Given the description of an element on the screen output the (x, y) to click on. 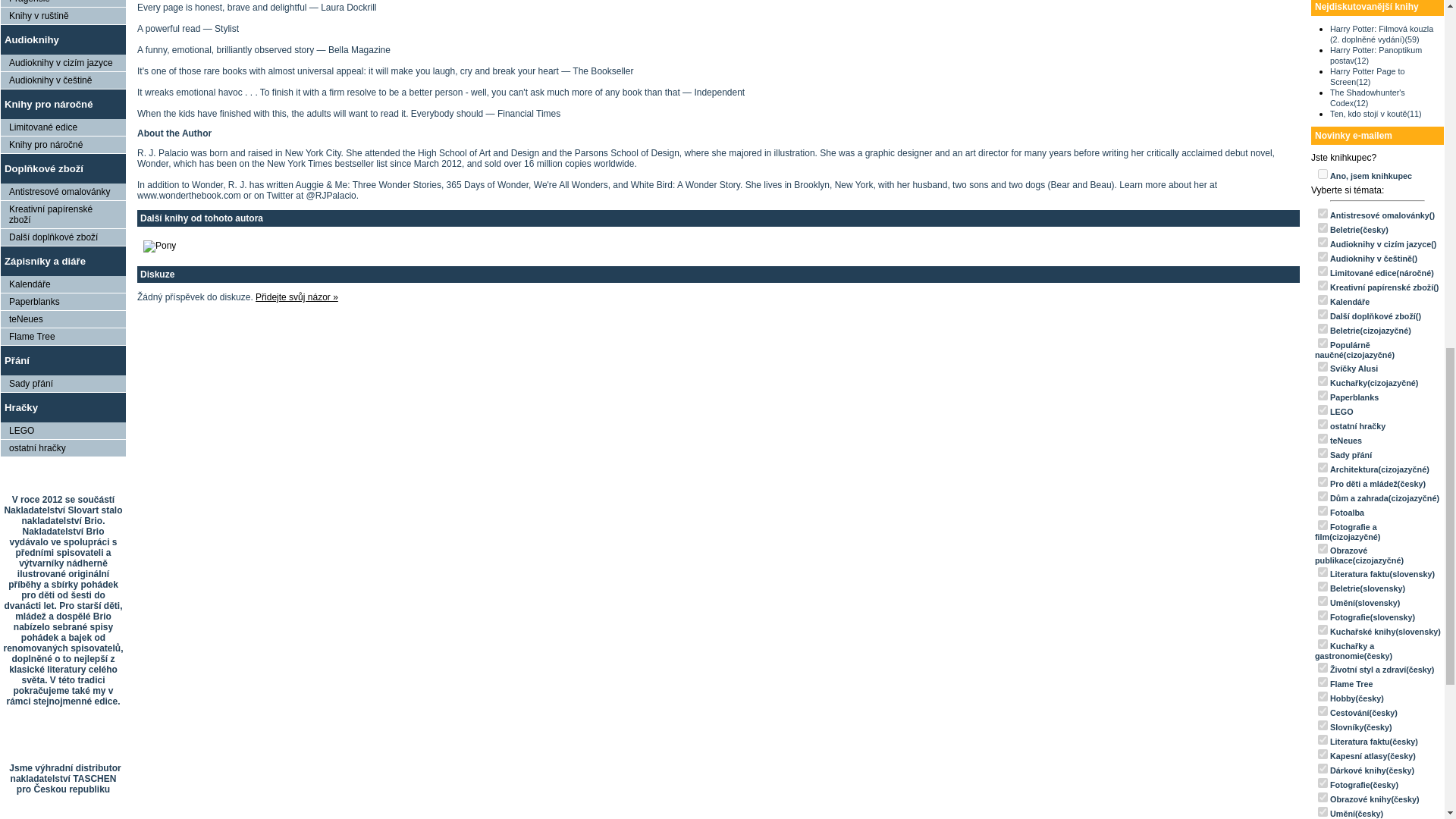
14752 (1322, 343)
15639 (1322, 213)
13483 (1322, 366)
12305 (1322, 409)
11741 (1322, 452)
9825 (1322, 271)
9799 (1322, 380)
19356 (1322, 256)
9820 (1322, 328)
20372 (1322, 242)
15802 (1322, 299)
13080 (1322, 424)
22806 (1322, 314)
10036 (1322, 395)
1 (1322, 173)
